Given the description of an element on the screen output the (x, y) to click on. 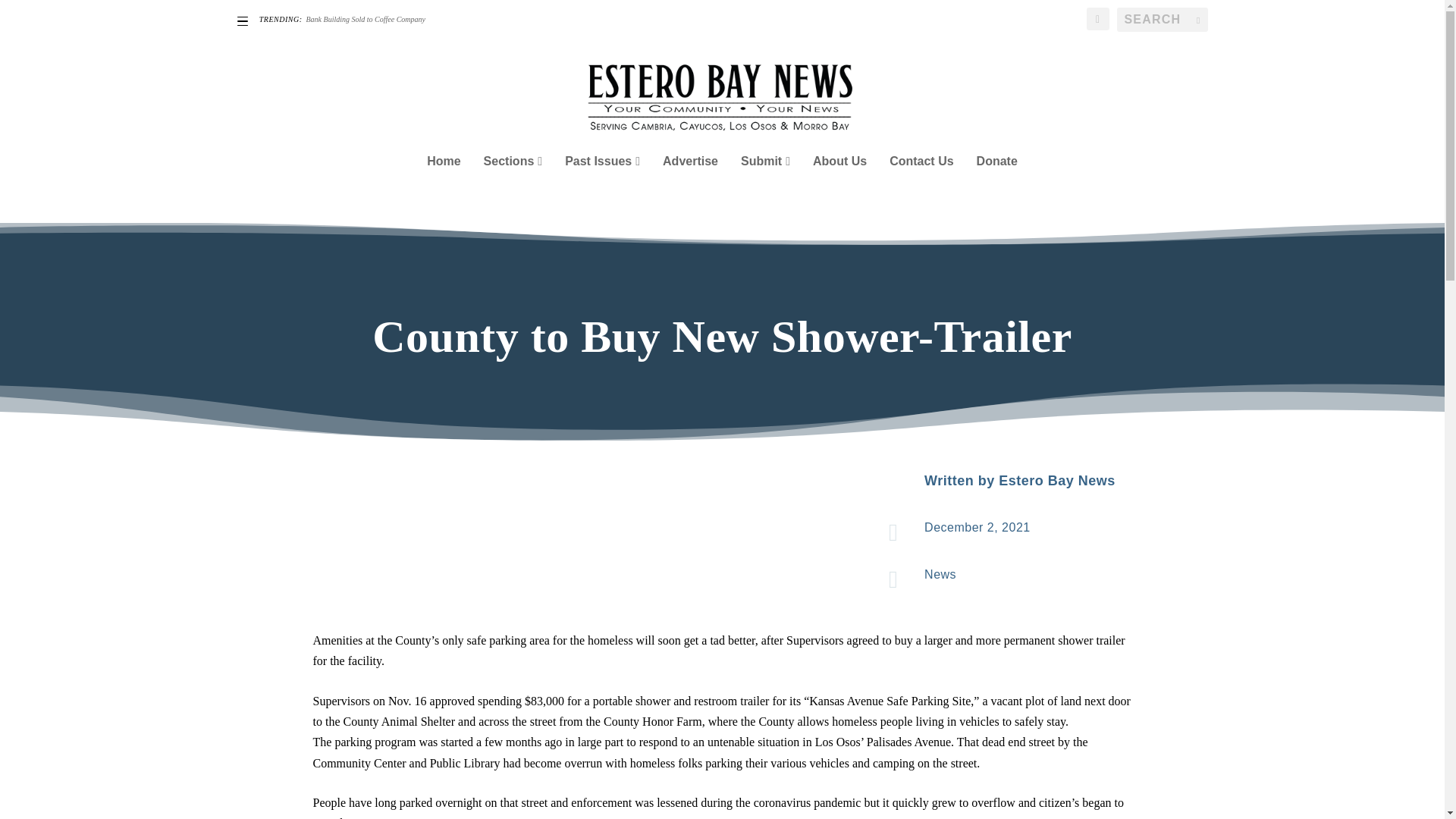
Search for: (1161, 19)
Advertise (689, 181)
About Us (839, 181)
Sections (513, 181)
Bank Building Sold to Coffee Company (365, 19)
Submit (765, 181)
Past Issues (602, 181)
